Given the description of an element on the screen output the (x, y) to click on. 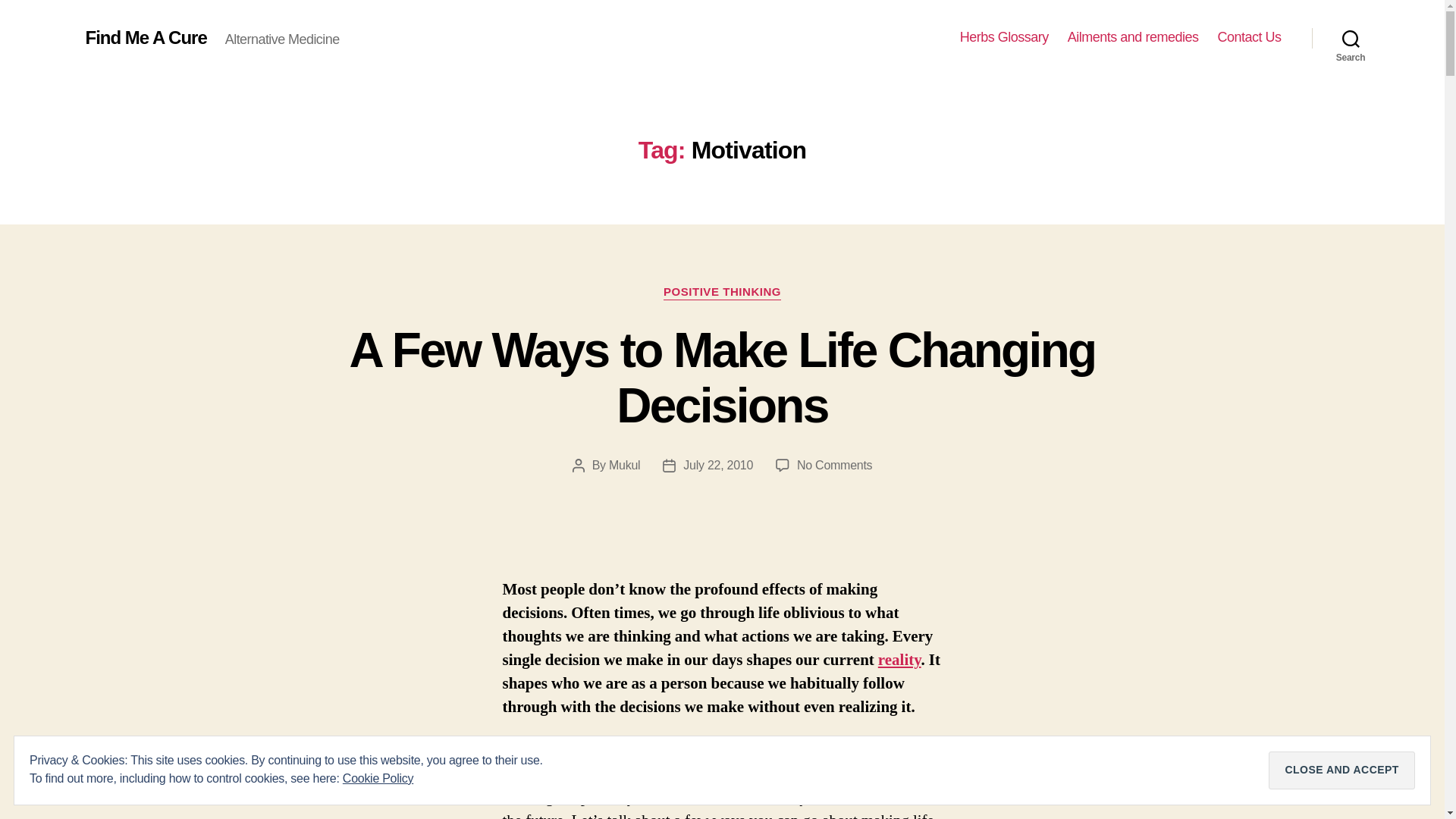
Search (1350, 37)
A Few Ways to Make Life Changing Decisions (834, 464)
July 22, 2010 (721, 377)
Herbs Glossary (717, 464)
Contact Us (1003, 37)
Find Me A Cure (1249, 37)
POSITIVE THINKING (145, 37)
Mukul (721, 292)
Close and accept (624, 464)
